Given the description of an element on the screen output the (x, y) to click on. 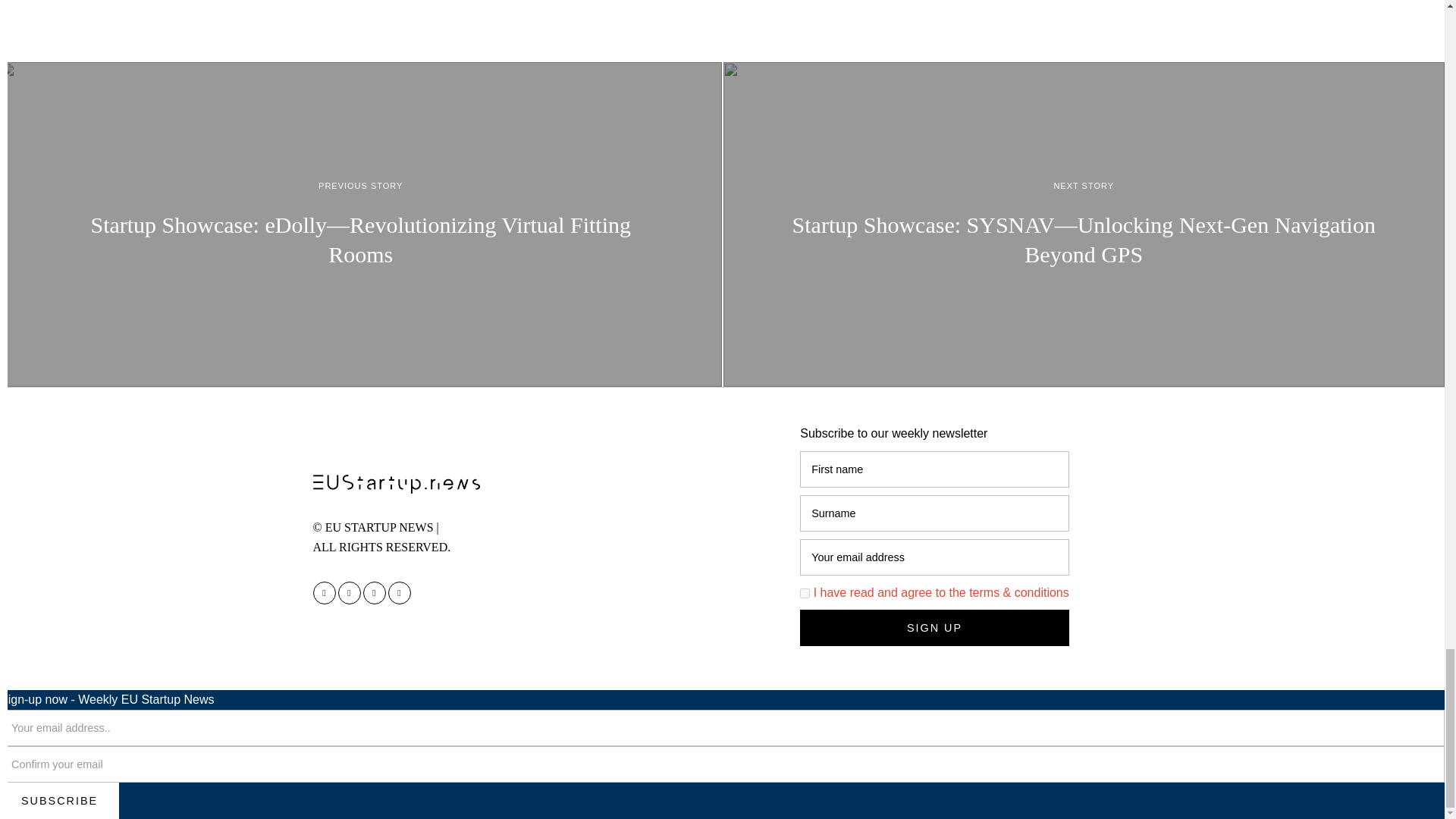
Sign up (933, 627)
1 (804, 593)
Instagram (349, 592)
Facebook (323, 592)
